Given the description of an element on the screen output the (x, y) to click on. 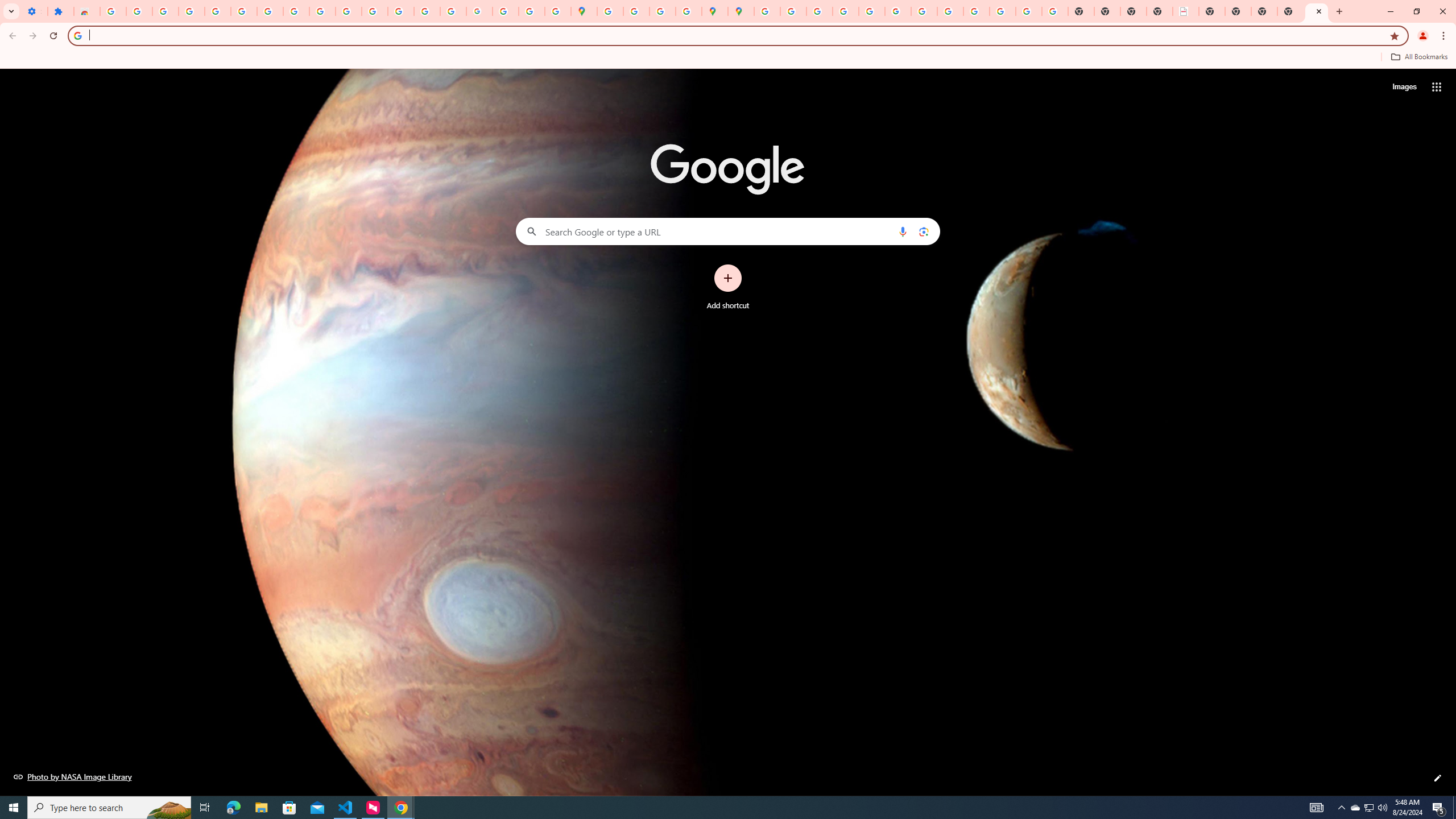
Google Account (296, 11)
Privacy Help Center - Policies Help (818, 11)
Settings - On startup (34, 11)
Bookmarks (728, 58)
